Given the description of an element on the screen output the (x, y) to click on. 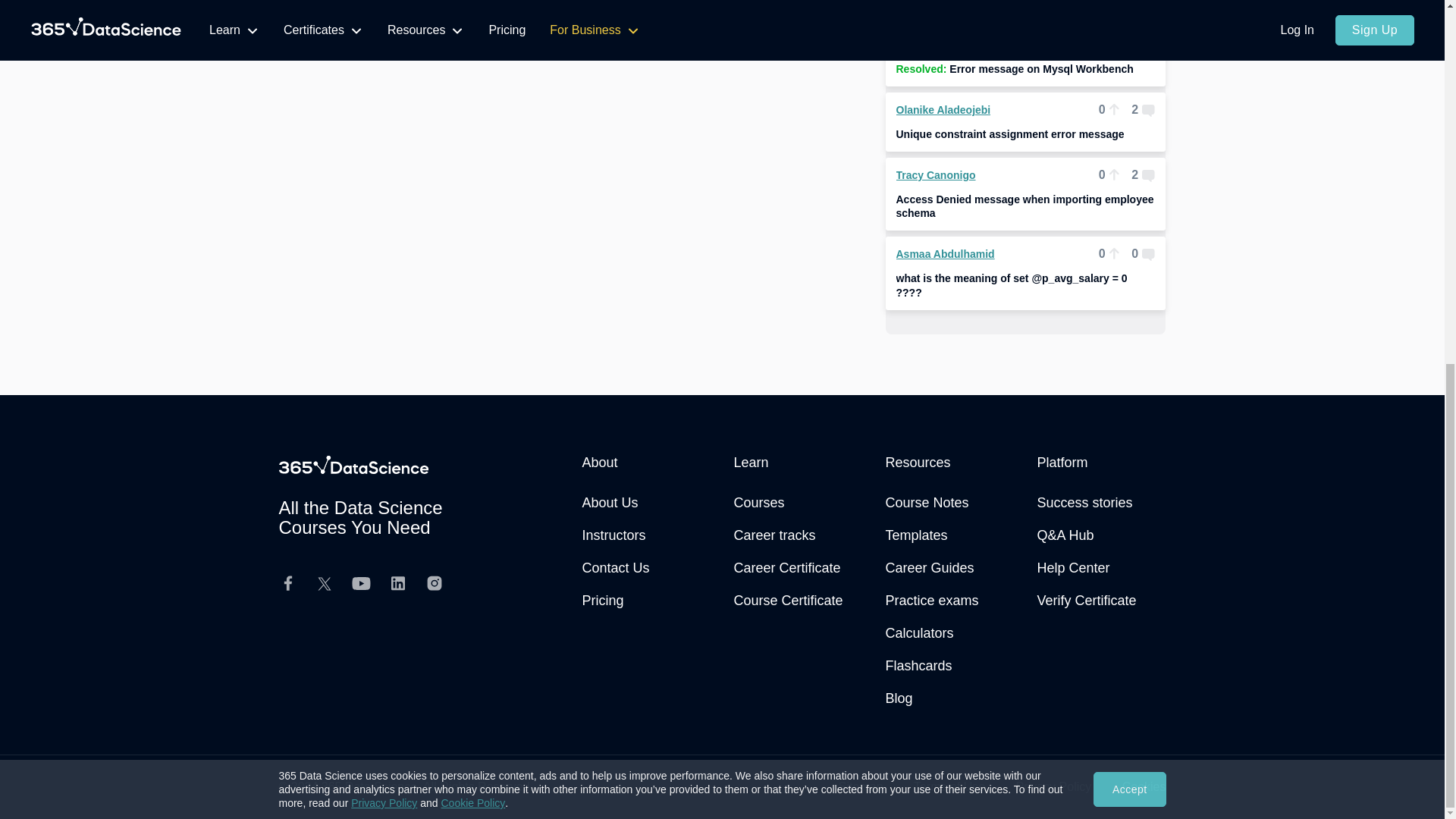
Submit answer (794, 24)
